Given the description of an element on the screen output the (x, y) to click on. 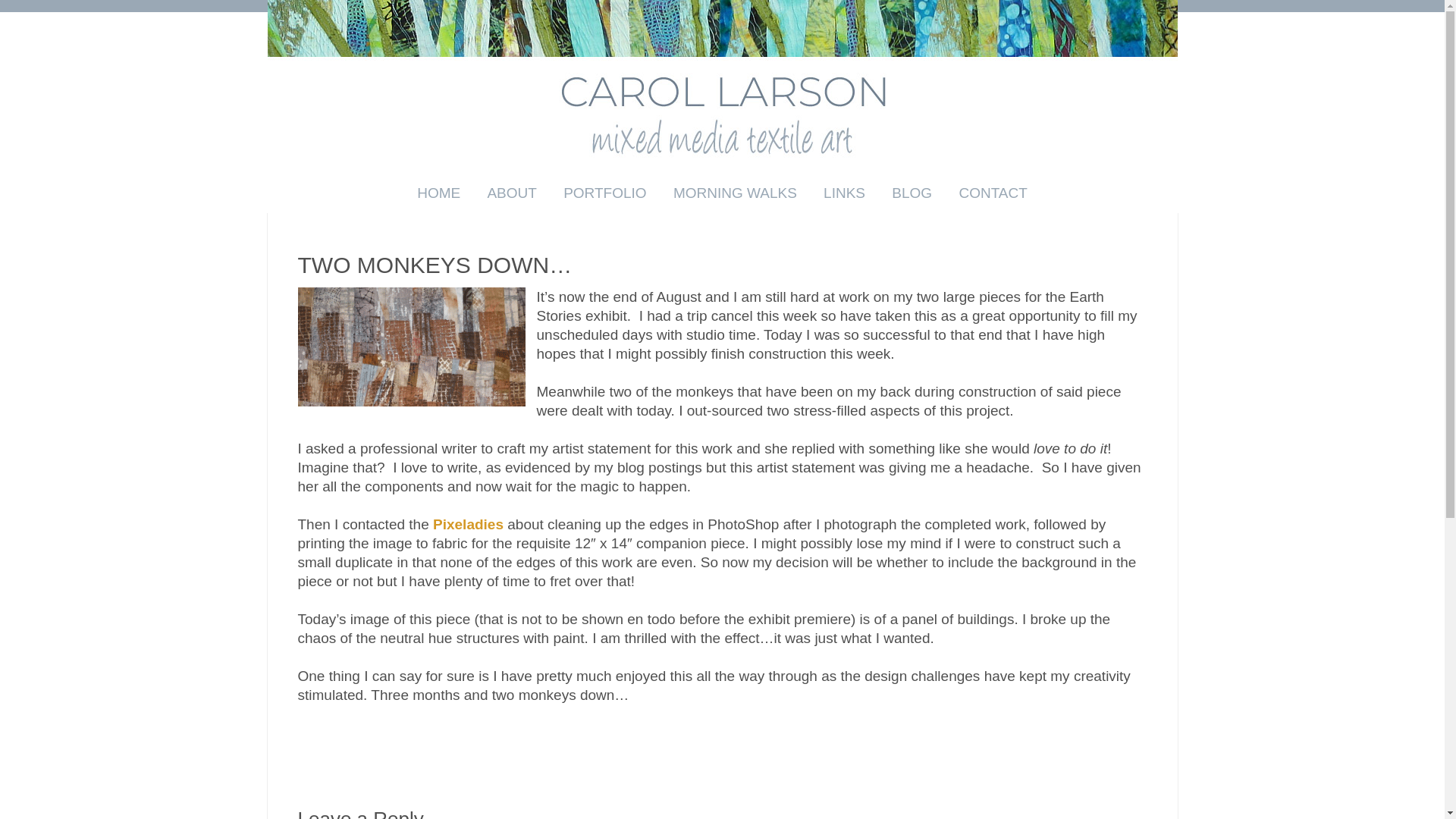
CONTACT (992, 192)
MORNING WALKS (735, 192)
BLOG (911, 192)
Pixeladies (467, 523)
ABOUT (511, 192)
PORTFOLIO (604, 192)
LINKS (844, 192)
HOME (438, 192)
